Given the description of an element on the screen output the (x, y) to click on. 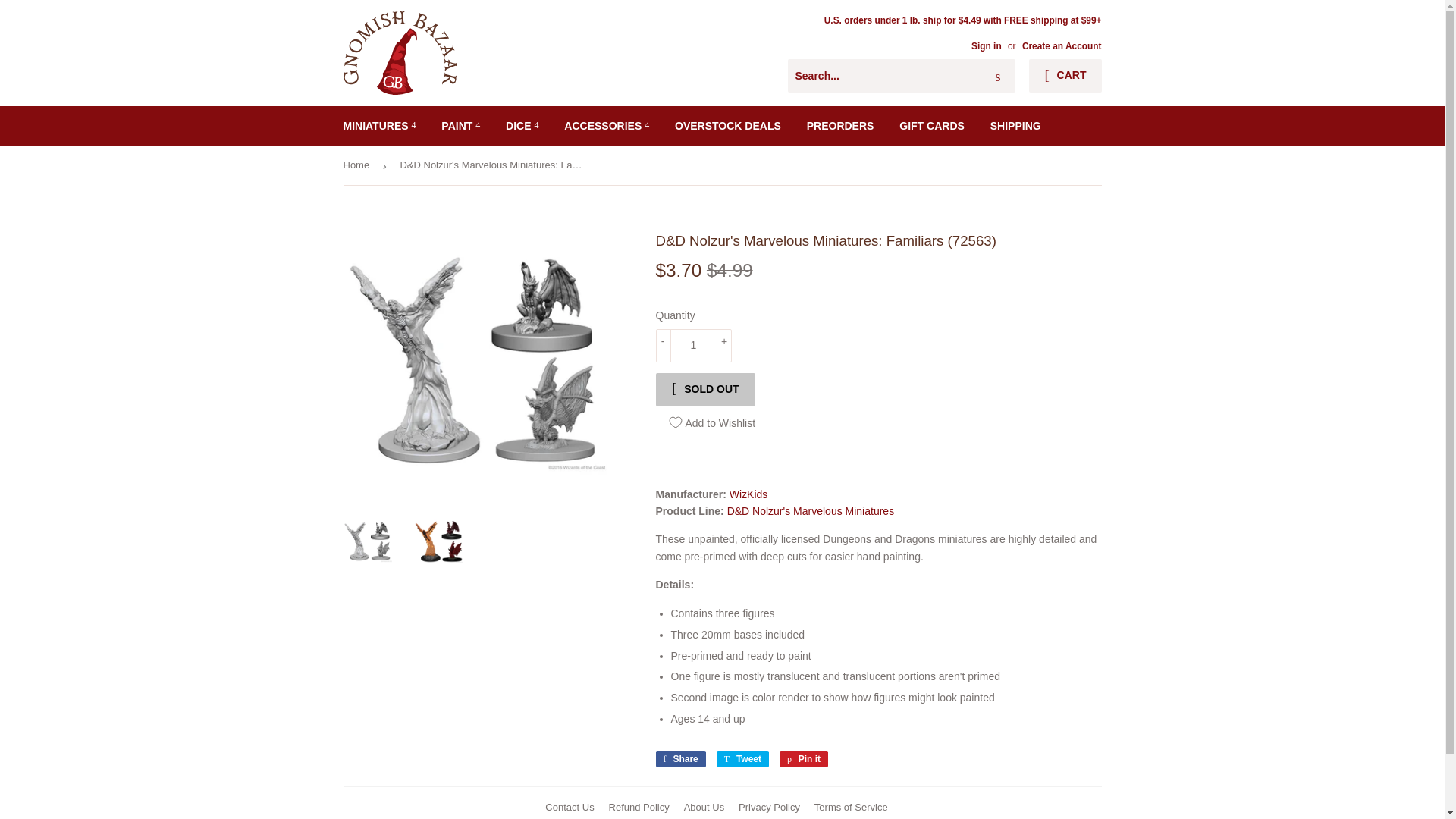
Create an Account (1062, 45)
Pin on Pinterest (803, 759)
Go (997, 76)
Sign in (986, 45)
CART (1064, 75)
1 (692, 345)
Tweet on Twitter (742, 759)
Share on Facebook (679, 759)
Add to Wishlist (711, 422)
Manufacturer: WizKids (748, 494)
